Given the description of an element on the screen output the (x, y) to click on. 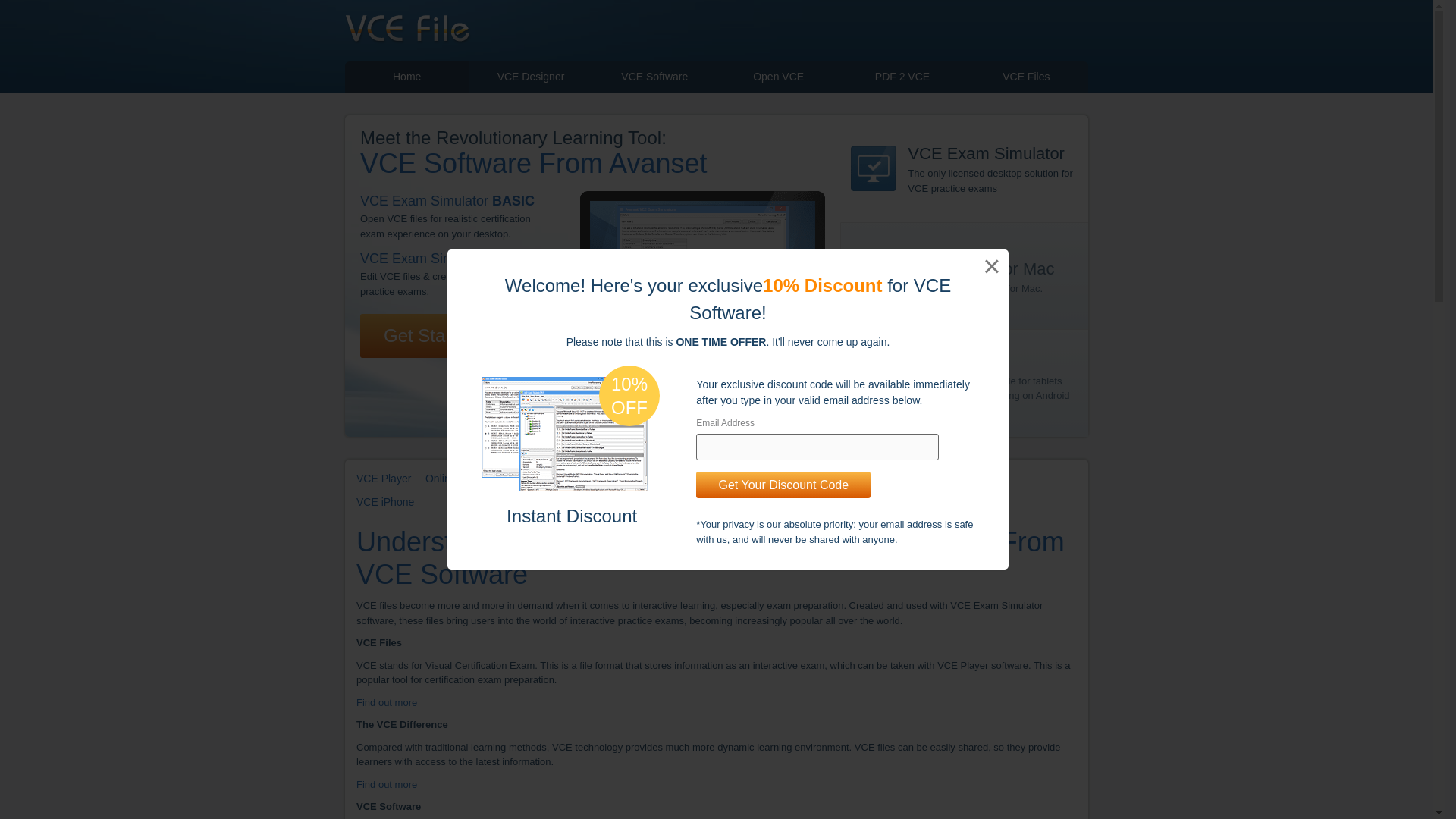
VCE Software (654, 76)
Open VCE (778, 76)
Get Your Discount Code (782, 484)
VCE Suite (982, 478)
PDF 2 VCE (901, 76)
VCE Player (383, 478)
VCE Files (1025, 76)
Find out more (386, 784)
VCE iPhone (384, 501)
VCE Exam (595, 478)
Get Started (429, 335)
VCE Viewers (911, 478)
Onliner VCE (454, 478)
Find out more (386, 702)
VCE Designer (530, 76)
